Given the description of an element on the screen output the (x, y) to click on. 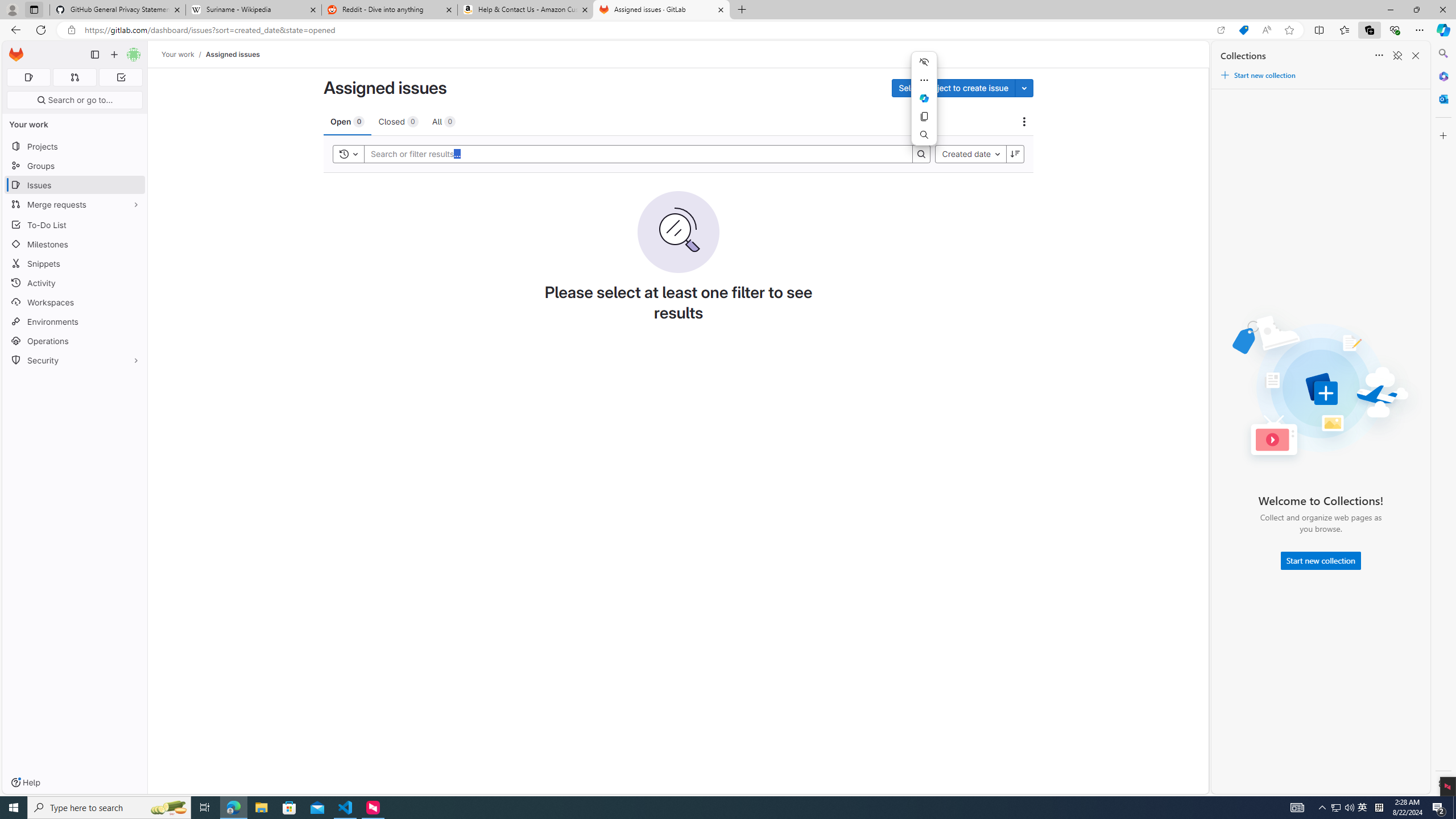
Sort direction: Descending (1015, 153)
Snippets (74, 262)
Activity (74, 282)
Suriname - Wikipedia (253, 9)
Open 0 (347, 121)
Mini menu on text selection (924, 104)
To-Do List (74, 224)
To-Do list 0 (120, 76)
Hide menu (923, 62)
